Given the description of an element on the screen output the (x, y) to click on. 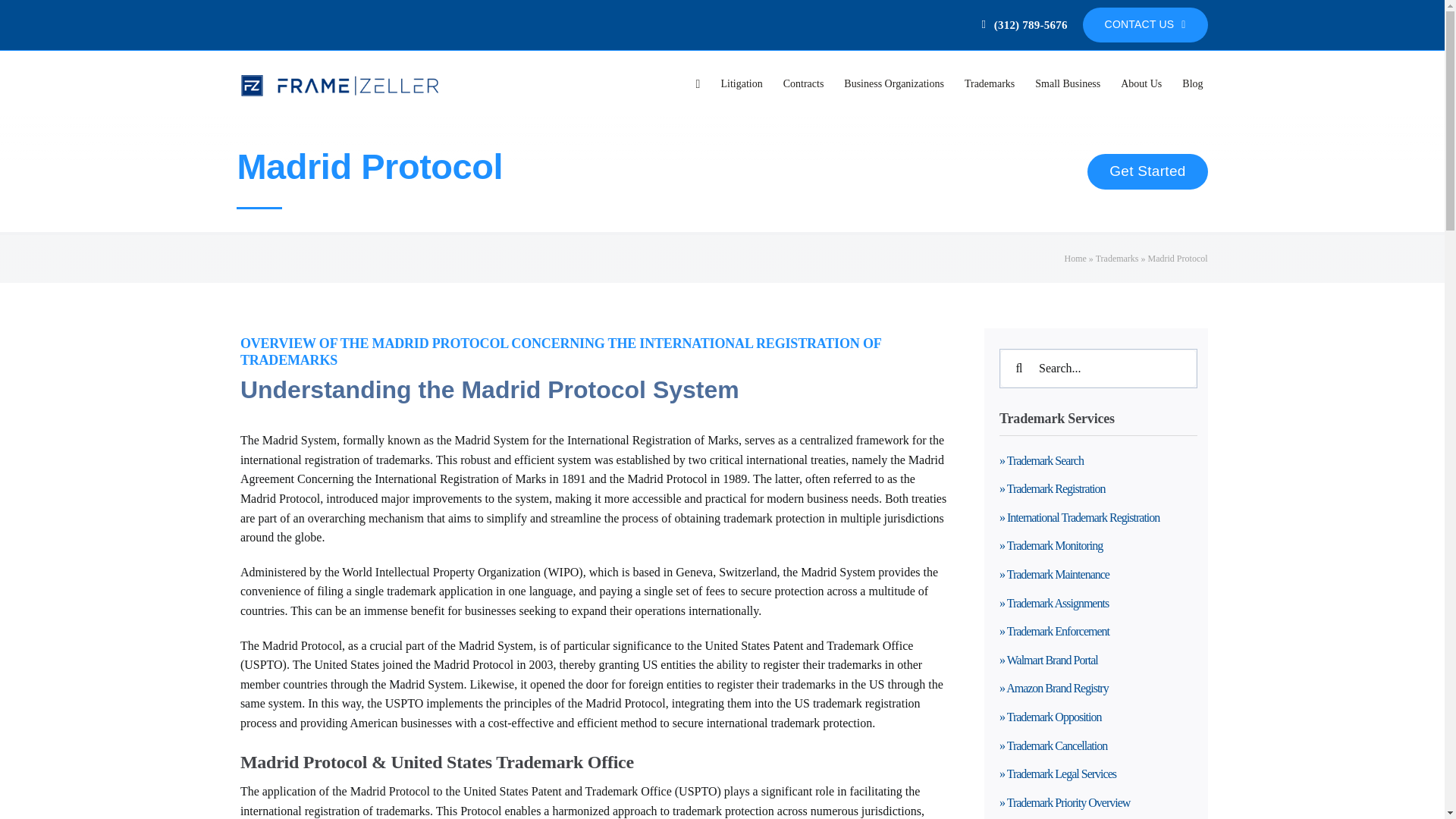
Get Started (1147, 171)
About Us (1141, 85)
Amazon Brand Registry (1097, 691)
Small Business (1067, 85)
Trademarks (989, 85)
CONTACT US (1145, 24)
Litigation (741, 85)
Trademark Monitoring (1097, 549)
Business Organizations (894, 85)
Trademark Assignments (1097, 606)
